Given the description of an element on the screen output the (x, y) to click on. 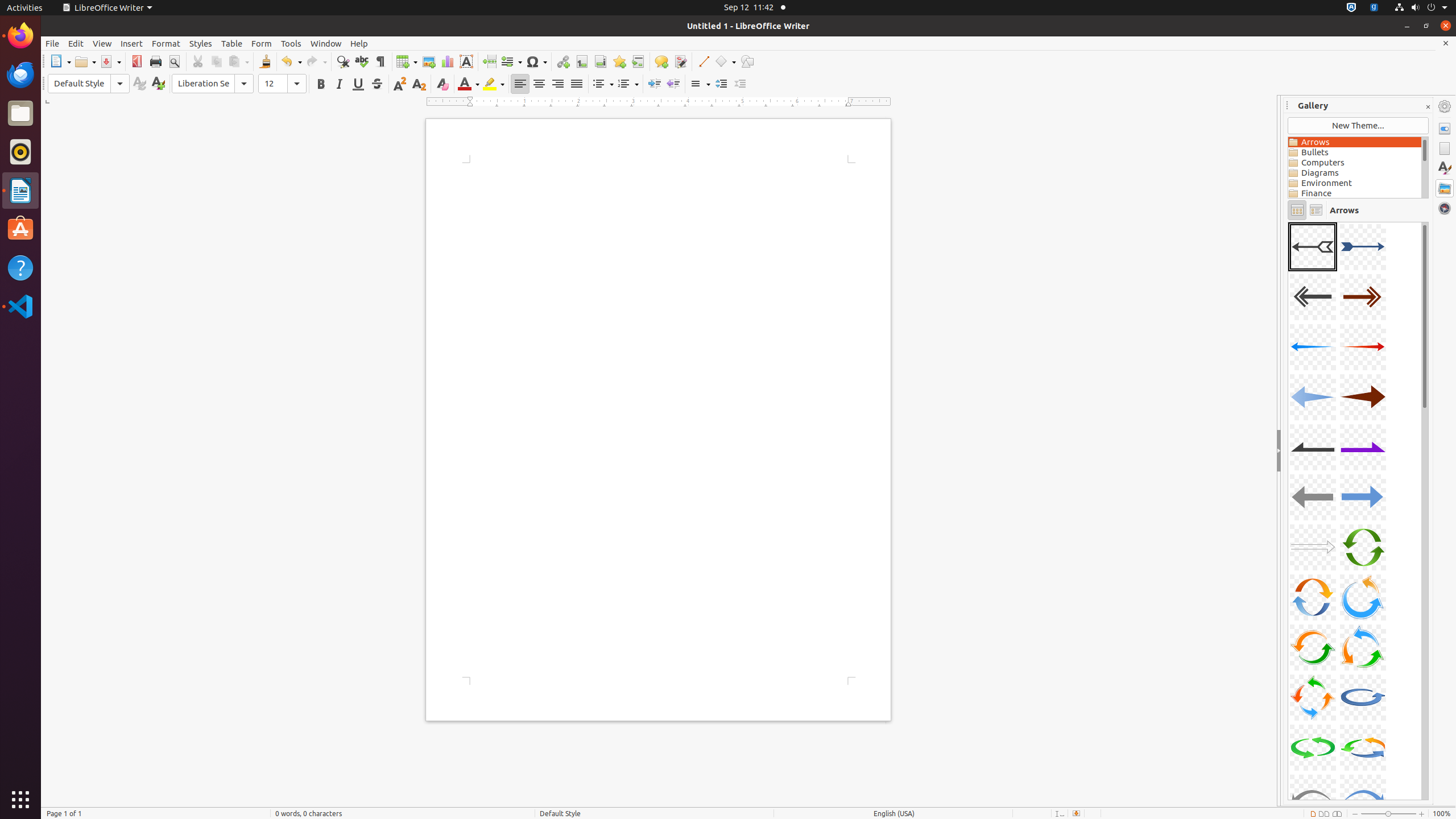
File Element type: menu (51, 43)
Footnote Element type: push-button (581, 61)
Environment Element type: list-item (1354, 183)
Center Element type: toggle-button (538, 83)
Print Preview Element type: toggle-button (173, 61)
